Given the description of an element on the screen output the (x, y) to click on. 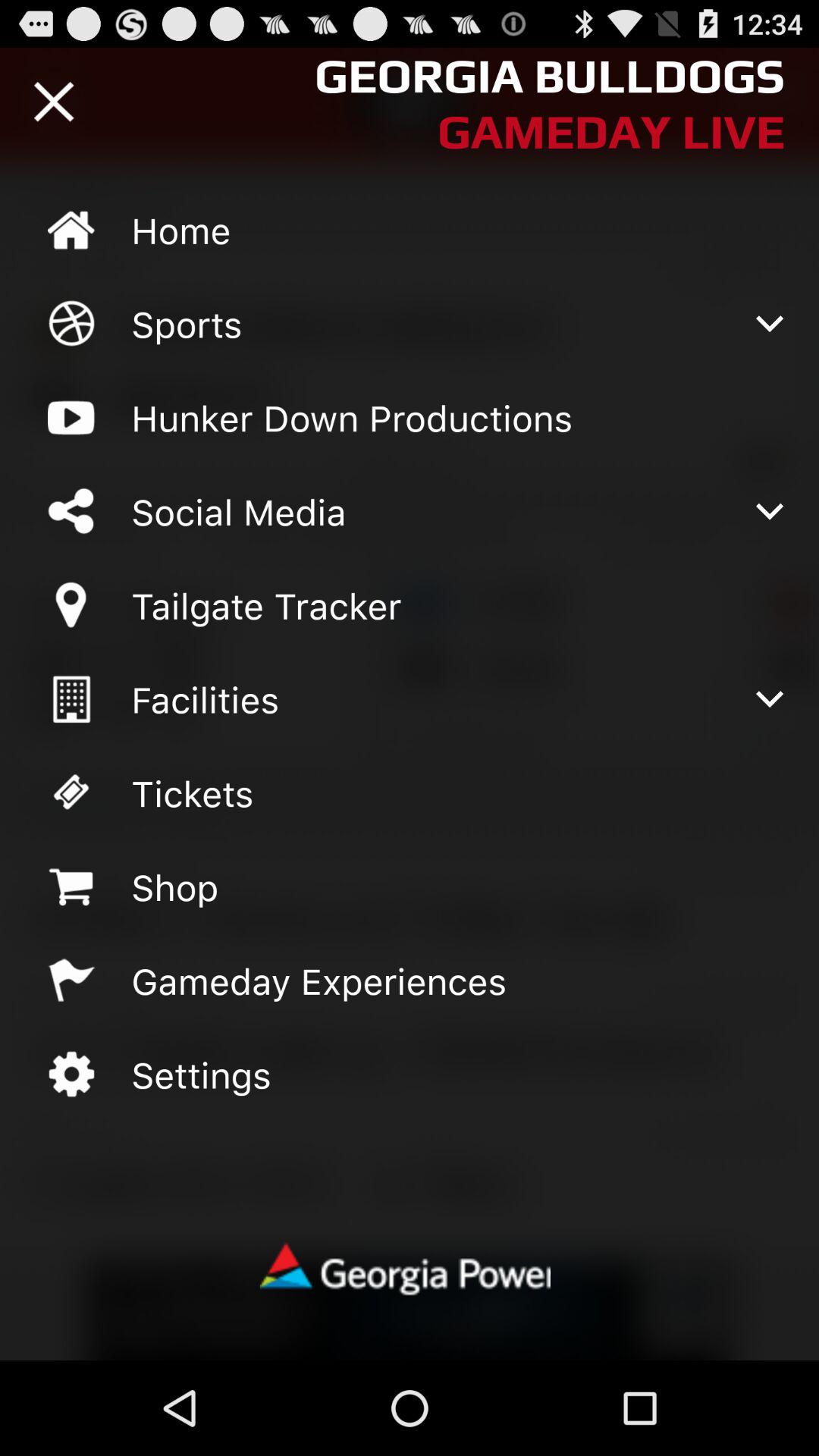
georgia power (408, 1270)
